Given the description of an element on the screen output the (x, y) to click on. 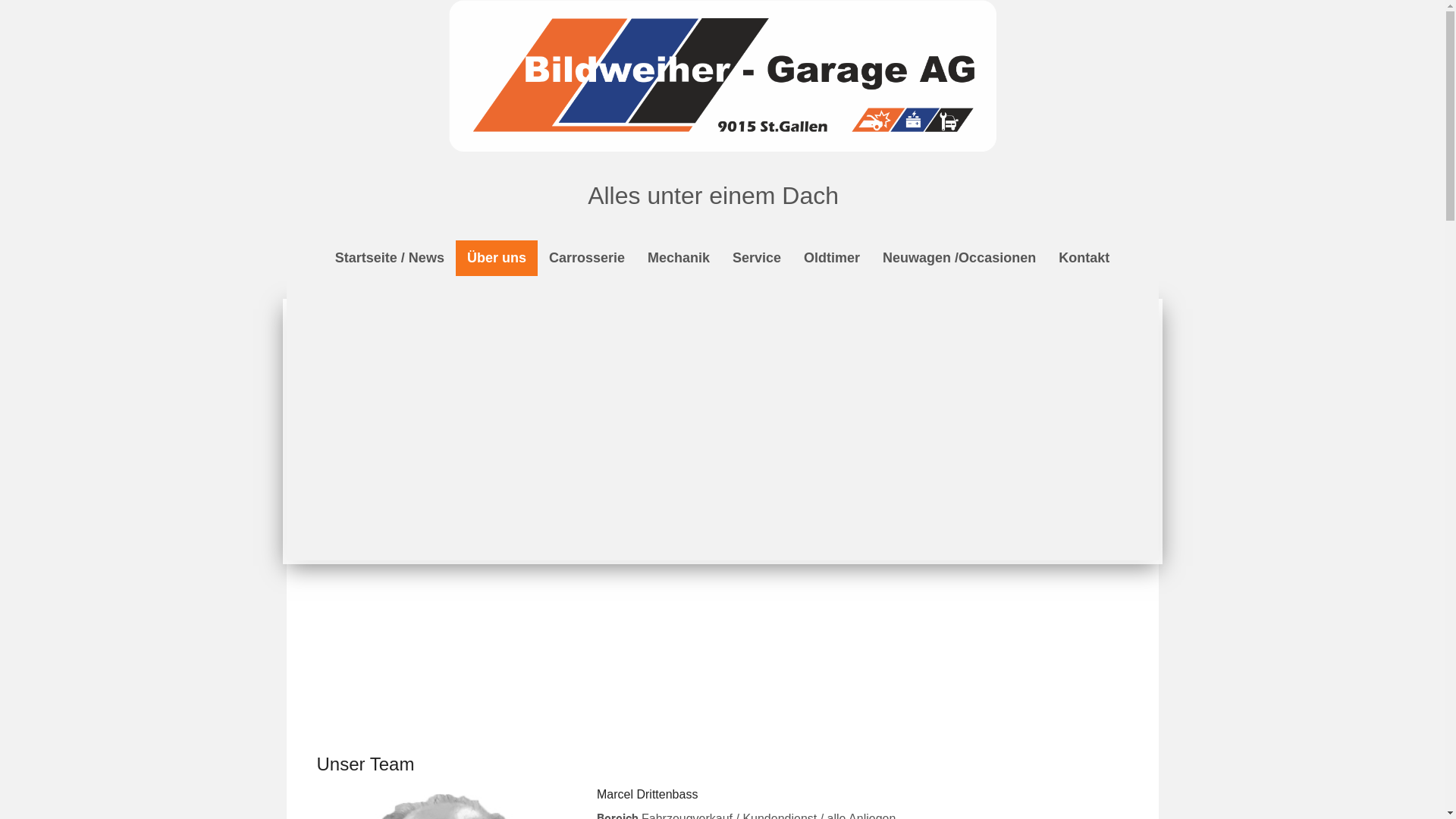
Neuwagen /Occasionen Element type: text (959, 258)
Service Element type: text (756, 258)
Oldtimer Element type: text (831, 258)
Kontakt Element type: text (1083, 258)
Startseite / News Element type: text (389, 258)
Mechanik Element type: text (678, 258)
Carrosserie Element type: text (586, 258)
